Given the description of an element on the screen output the (x, y) to click on. 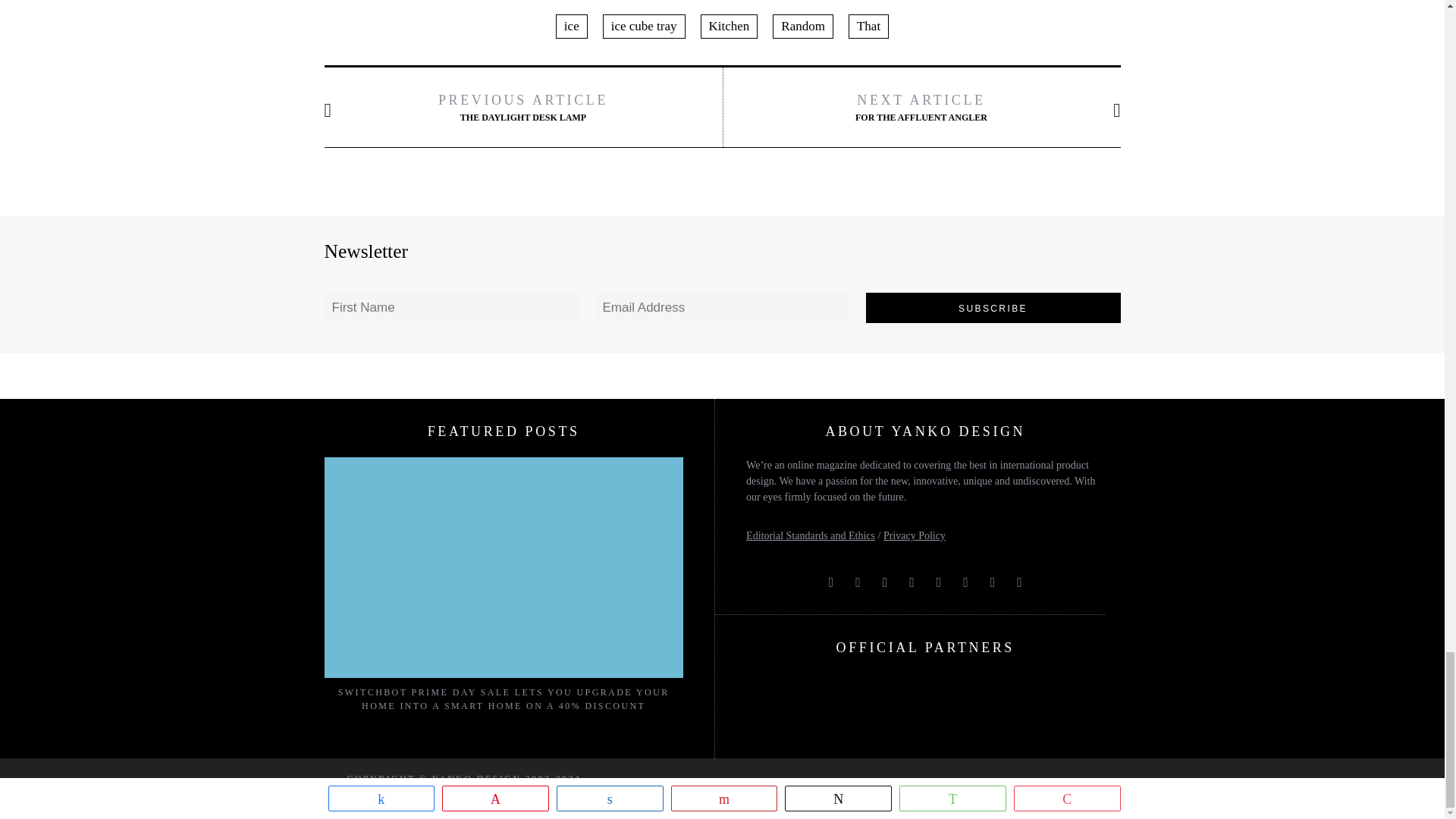
Editorial Standards and Ethics (810, 535)
Privacy Policy (913, 535)
Subscribe (993, 307)
